Given the description of an element on the screen output the (x, y) to click on. 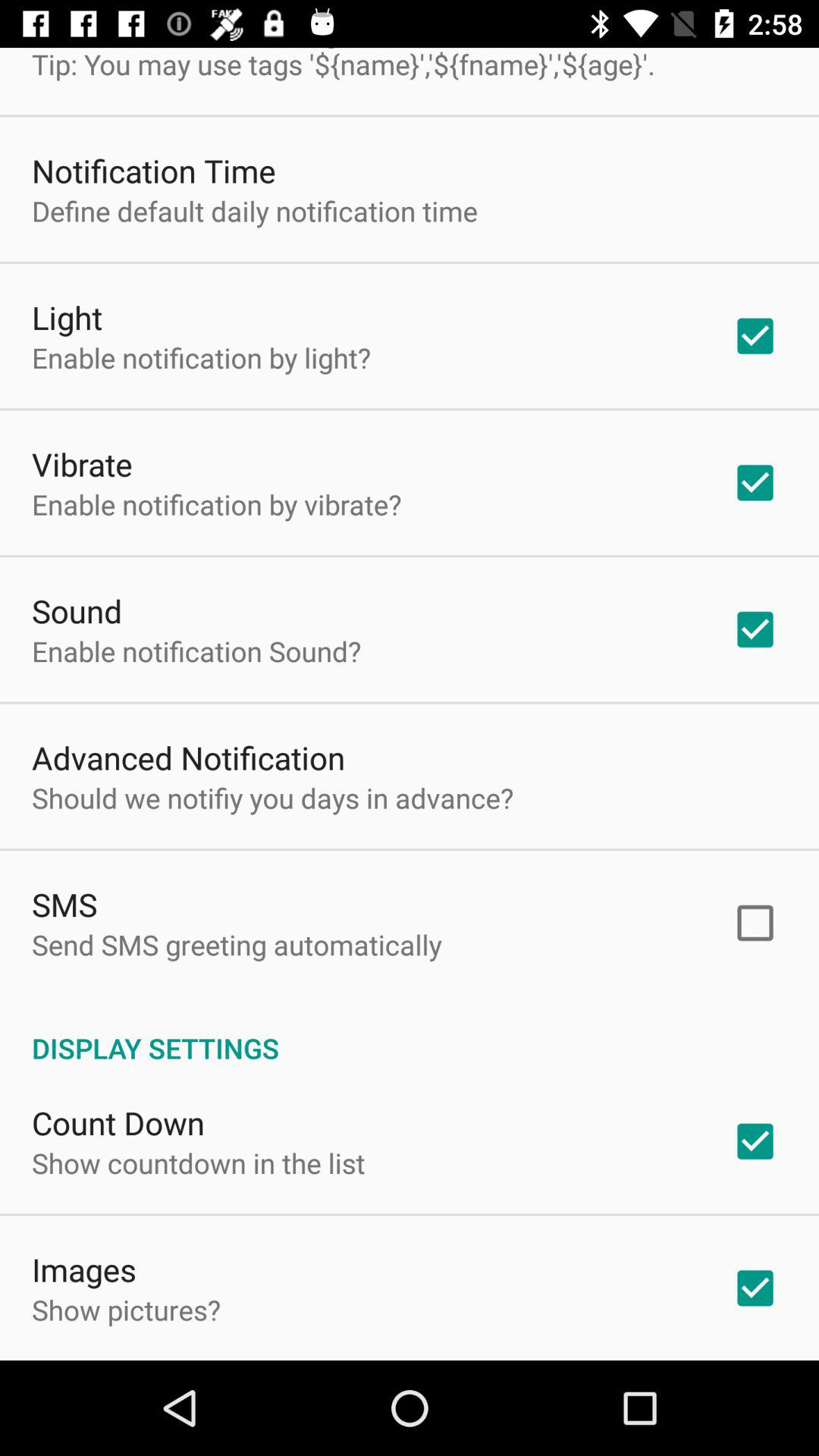
scroll to send sms greeting (236, 944)
